Given the description of an element on the screen output the (x, y) to click on. 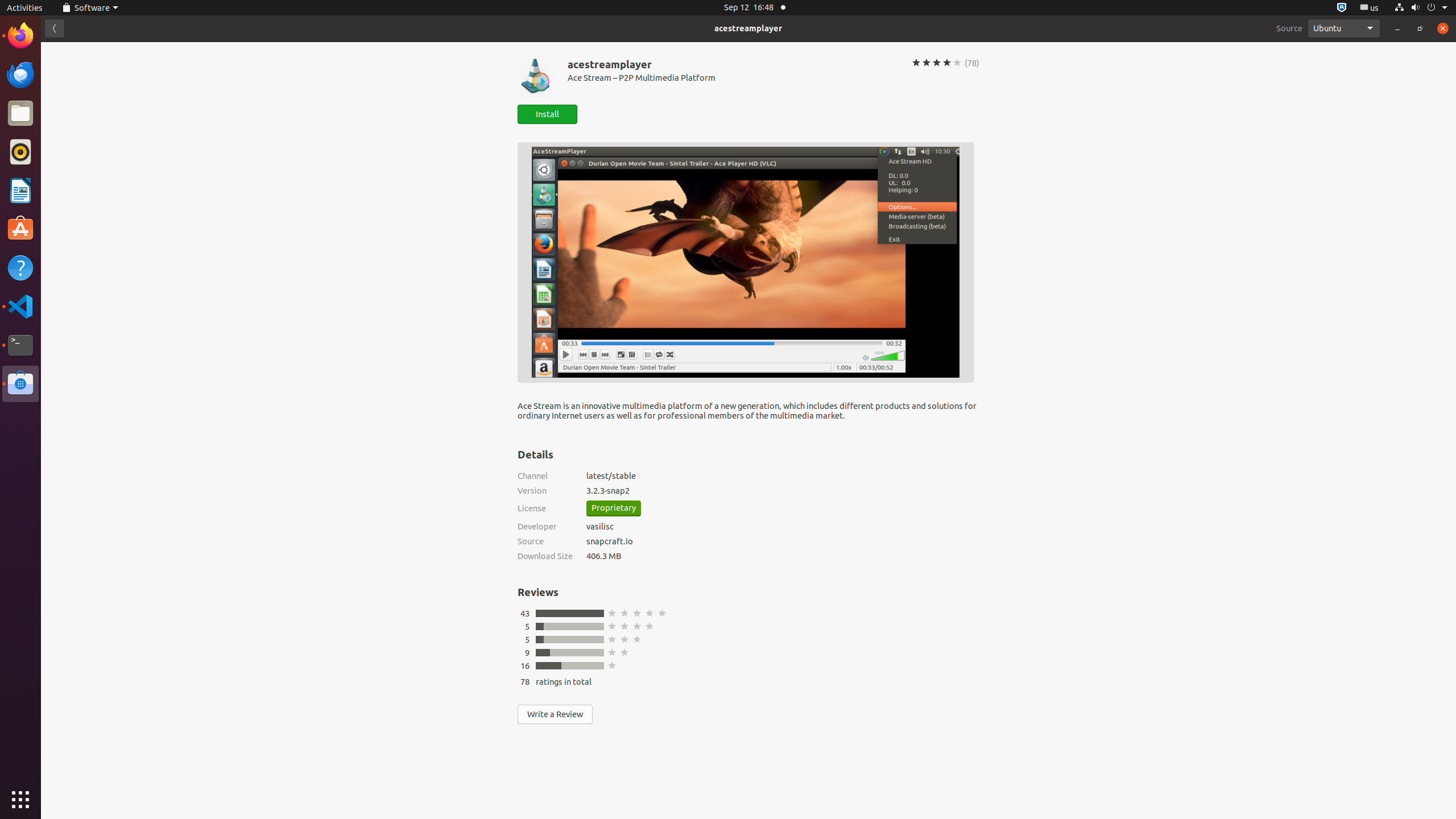
Terminal Element type: push-button (20, 344)
(78) Element type: label (971, 62)
5 Element type: label (526, 639)
